Given the description of an element on the screen output the (x, y) to click on. 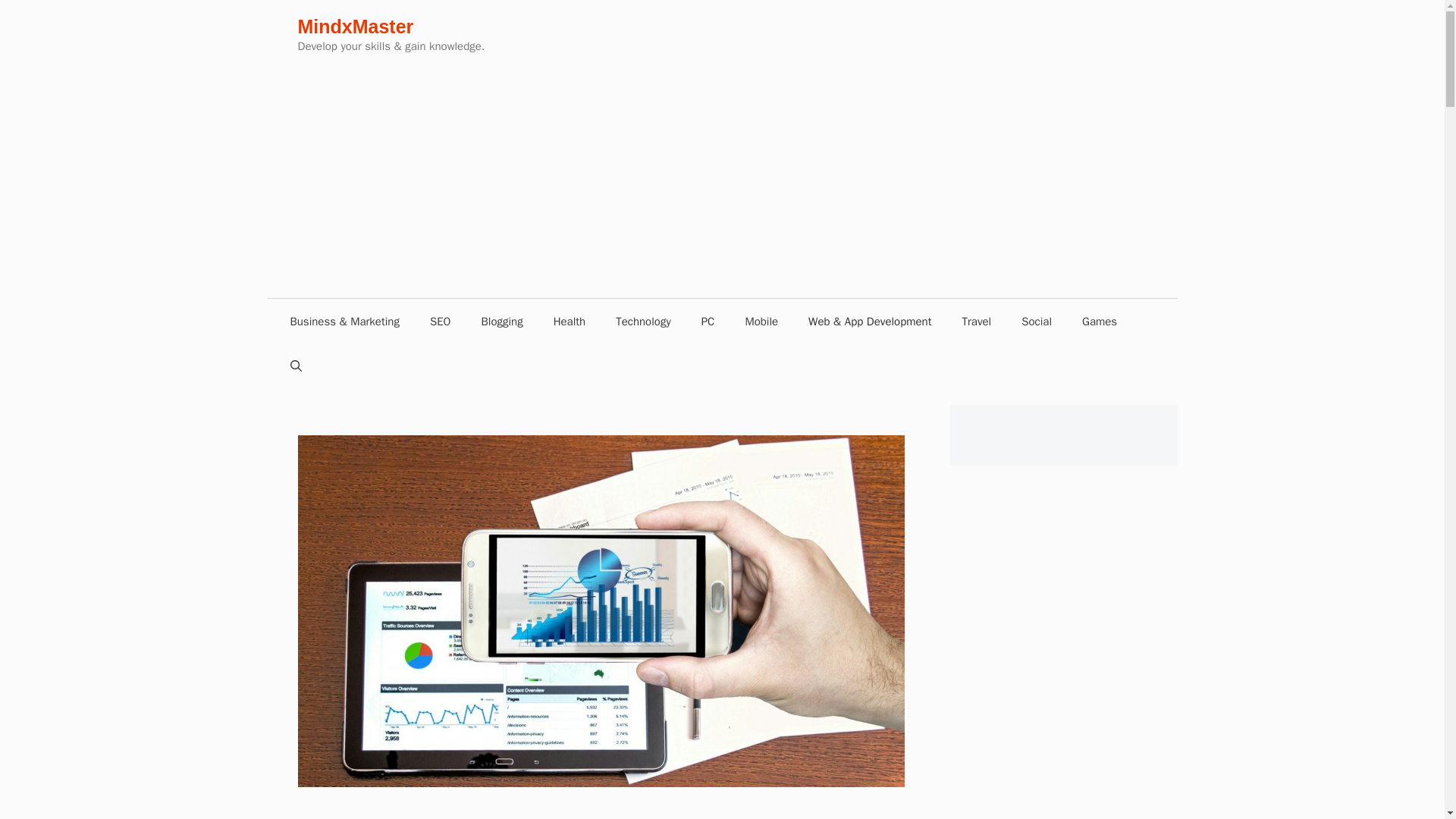
Travel (976, 320)
MindxMaster (355, 25)
PC (707, 320)
Health (569, 320)
Technology (642, 320)
SEO (439, 320)
Blogging (501, 320)
Games (1099, 320)
Social (1036, 320)
Mobile (761, 320)
